Given the description of an element on the screen output the (x, y) to click on. 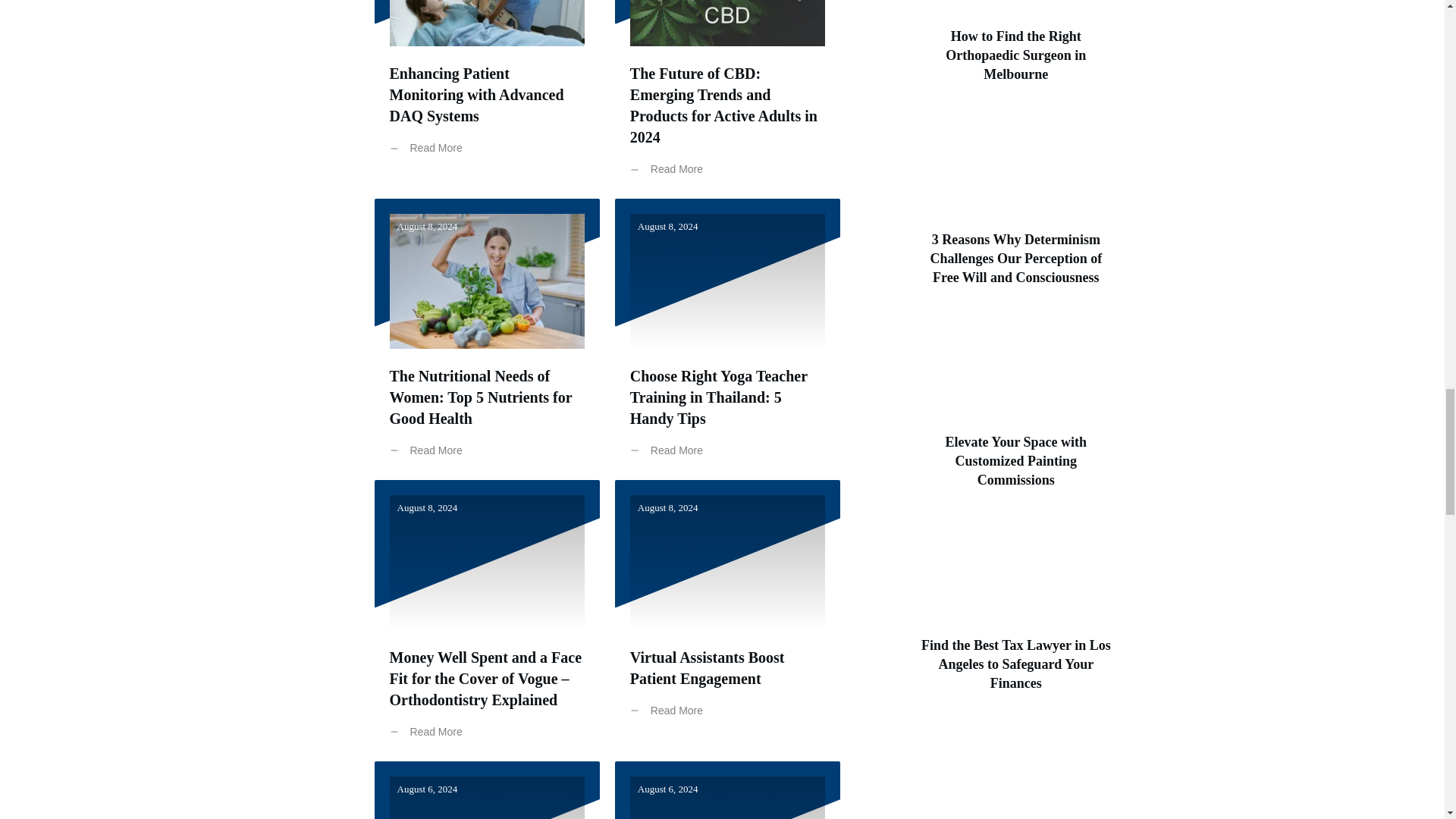
Enhancing Patient Monitoring with Advanced DAQ Systems (477, 94)
Enhancing Patient Monitoring with Advanced DAQ Systems (486, 99)
Read More (670, 169)
Read More (430, 148)
Choose Right Yoga Teacher Training in Thailand: 5 Handy Tips (719, 396)
Enhancing Patient Monitoring with Advanced DAQ Systems (477, 94)
Virtual Assistants Boost Patient Engagement (707, 668)
